Given the description of an element on the screen output the (x, y) to click on. 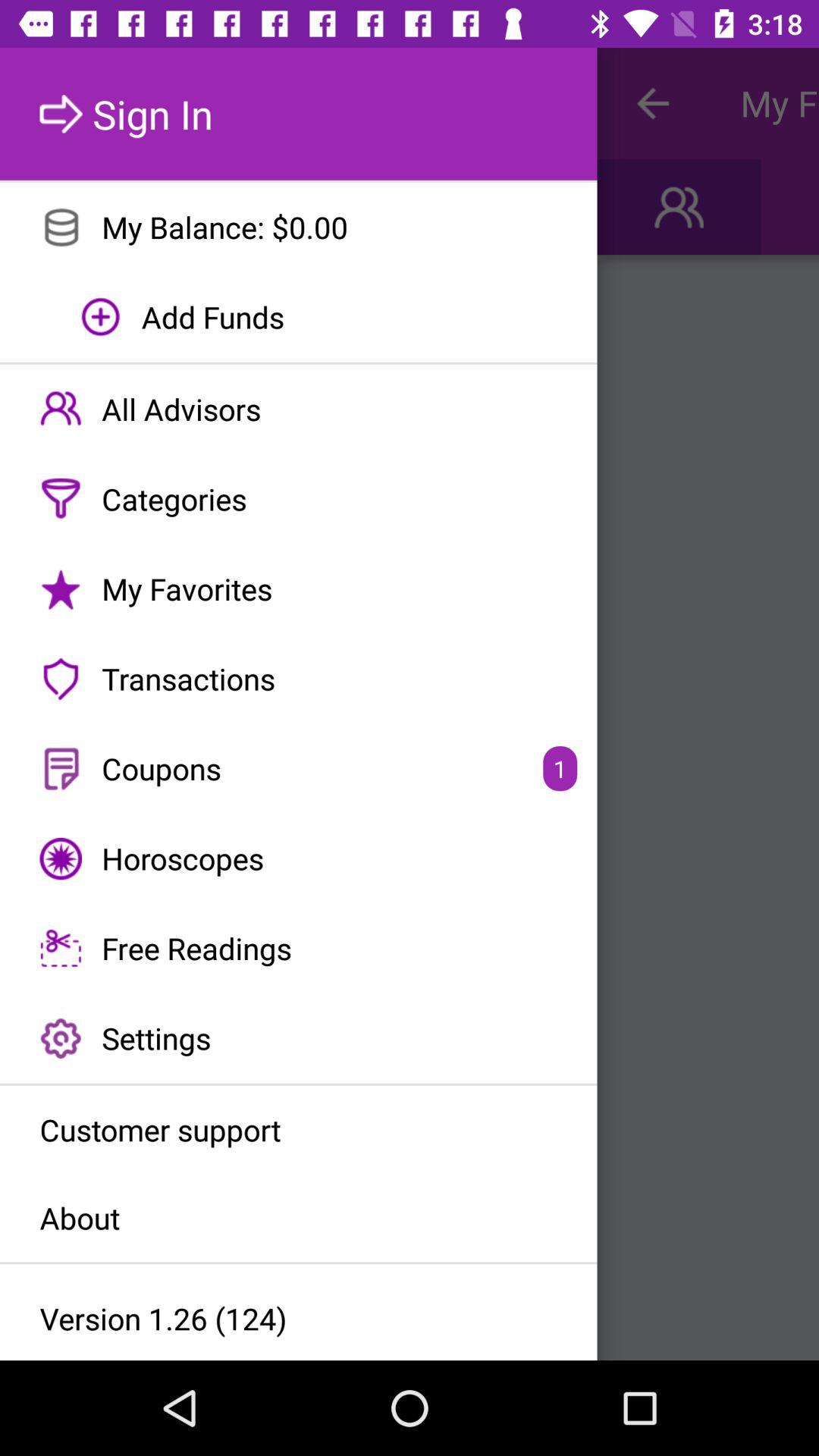
tap settings item (298, 1038)
